Given the description of an element on the screen output the (x, y) to click on. 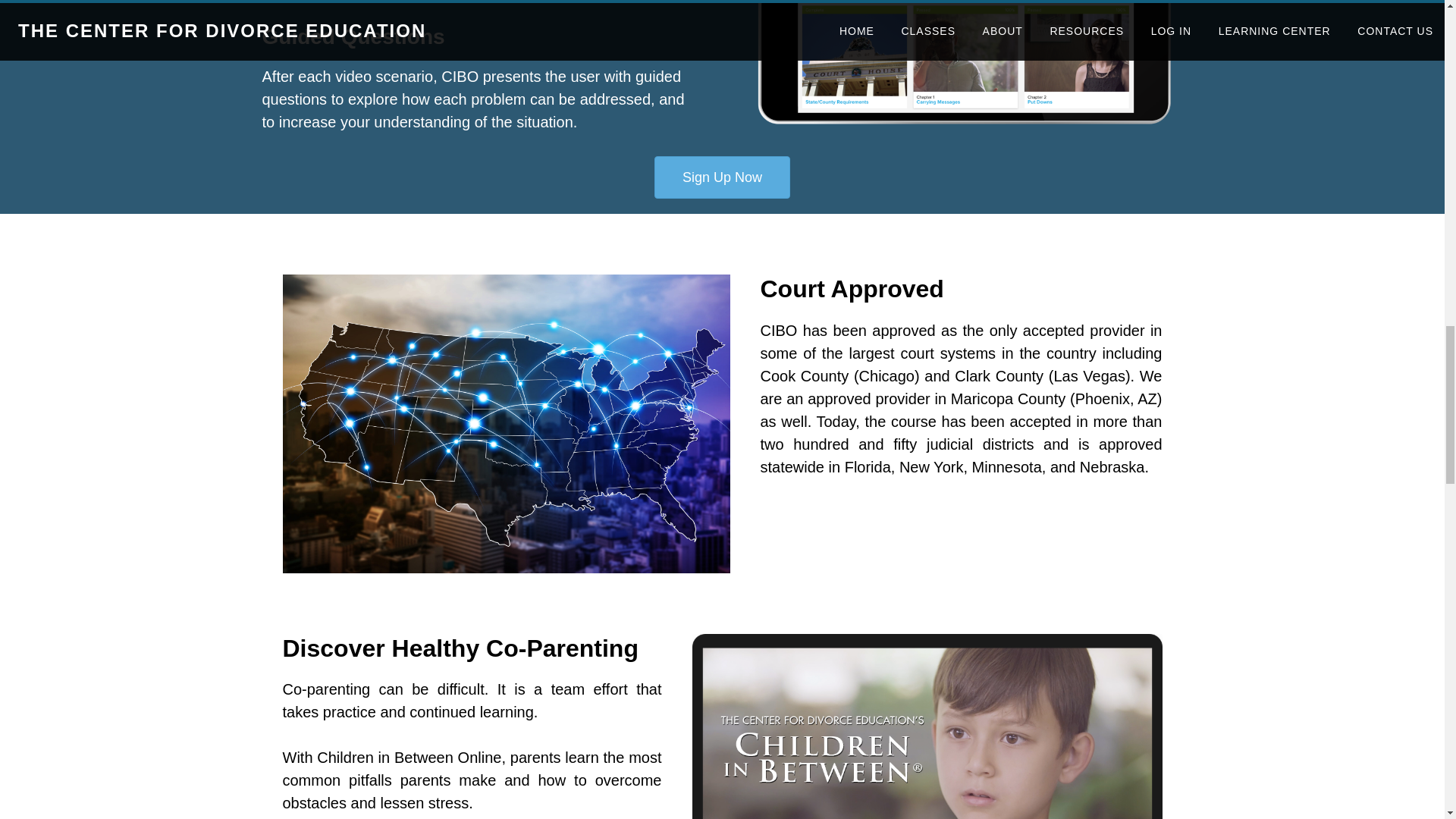
Sign Up Now (721, 177)
